Given the description of an element on the screen output the (x, y) to click on. 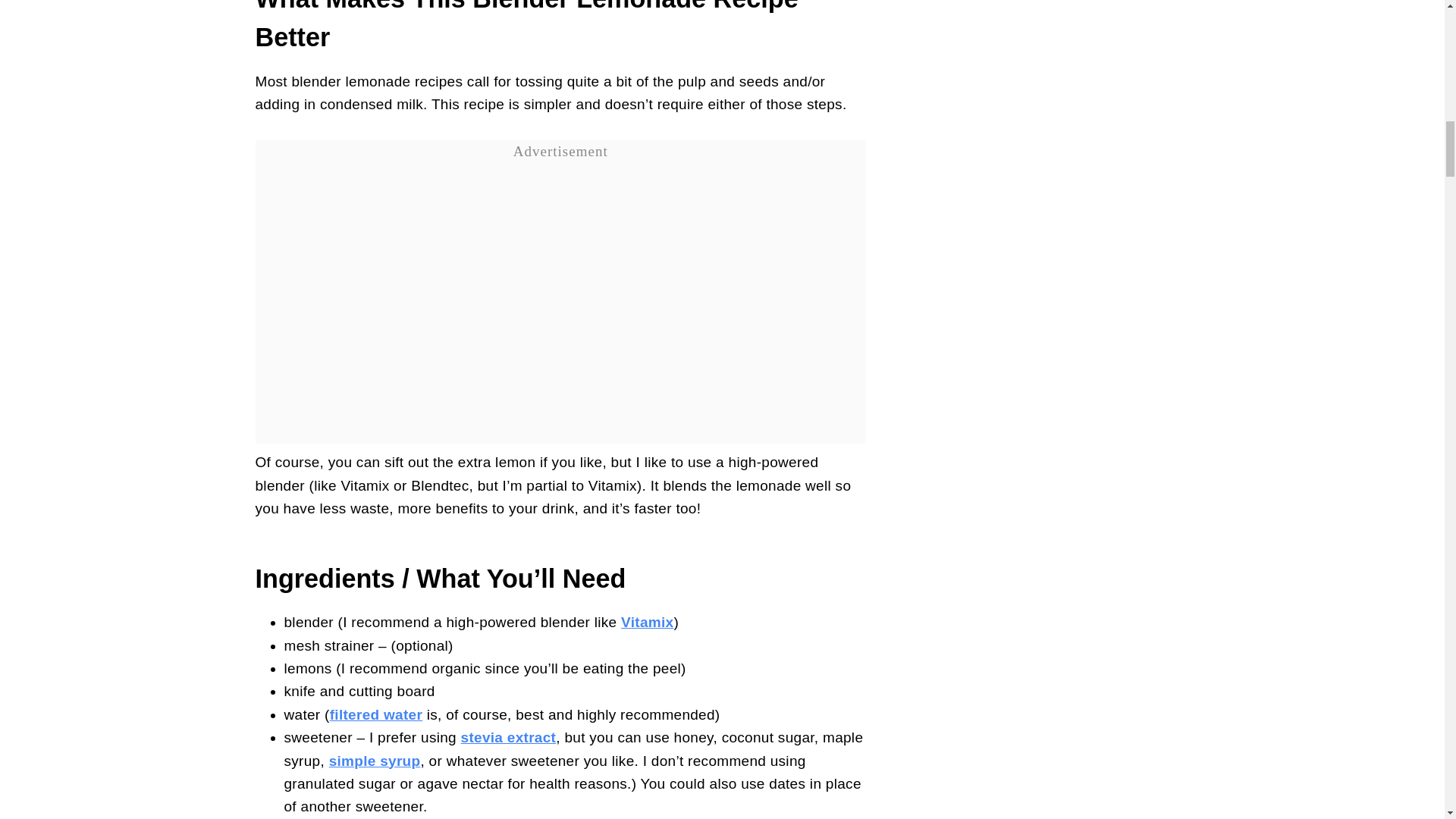
stevia extract (508, 737)
Vitamix (646, 621)
filtered water (376, 714)
simple syrup (374, 760)
